Given the description of an element on the screen output the (x, y) to click on. 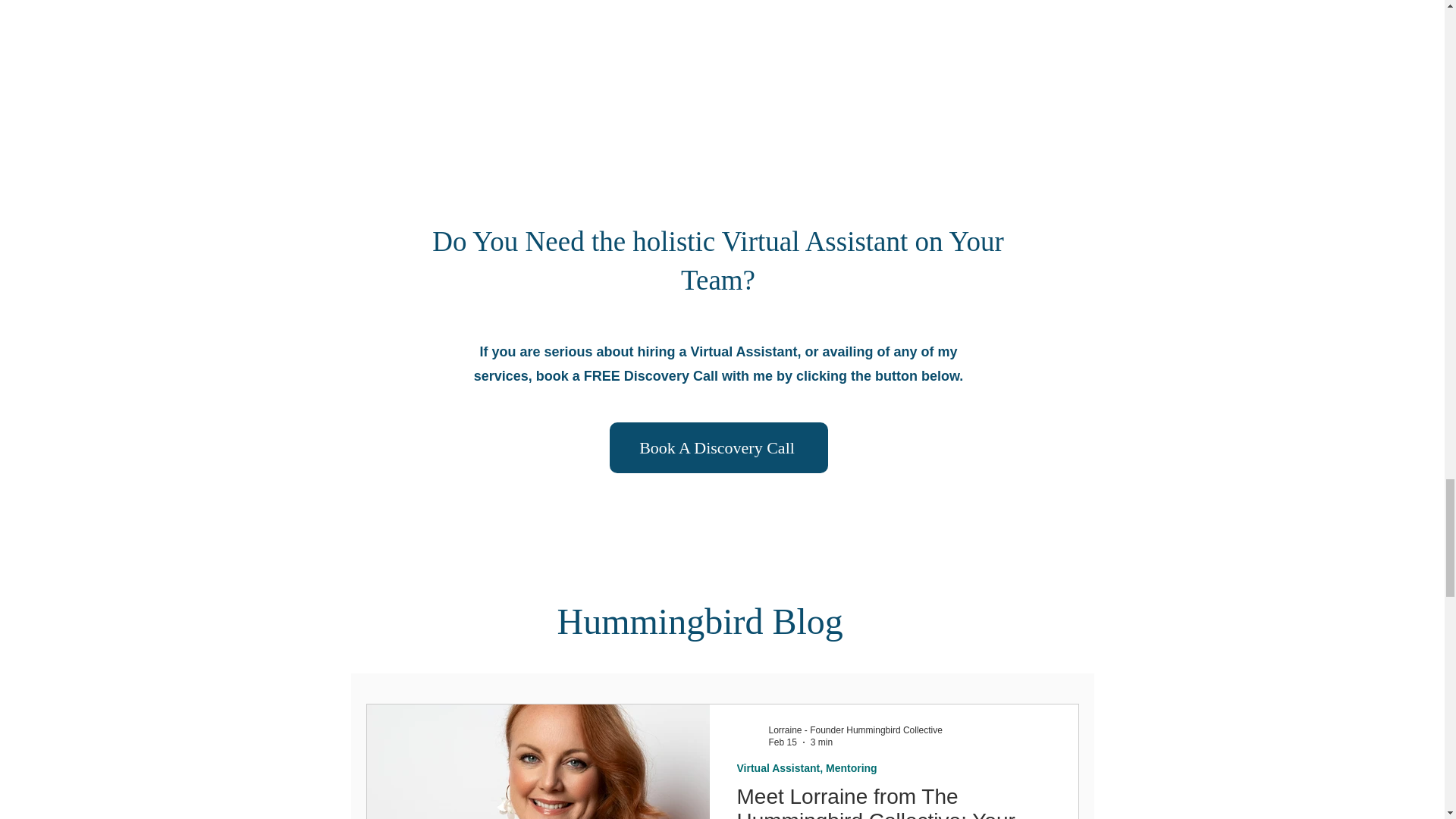
Virtual Assistant, Mentoring (806, 768)
Feb 15 (782, 742)
3 min (821, 742)
Lorraine - Founder Hummingbird Collective (855, 729)
Book A Discovery Call (719, 447)
